Given the description of an element on the screen output the (x, y) to click on. 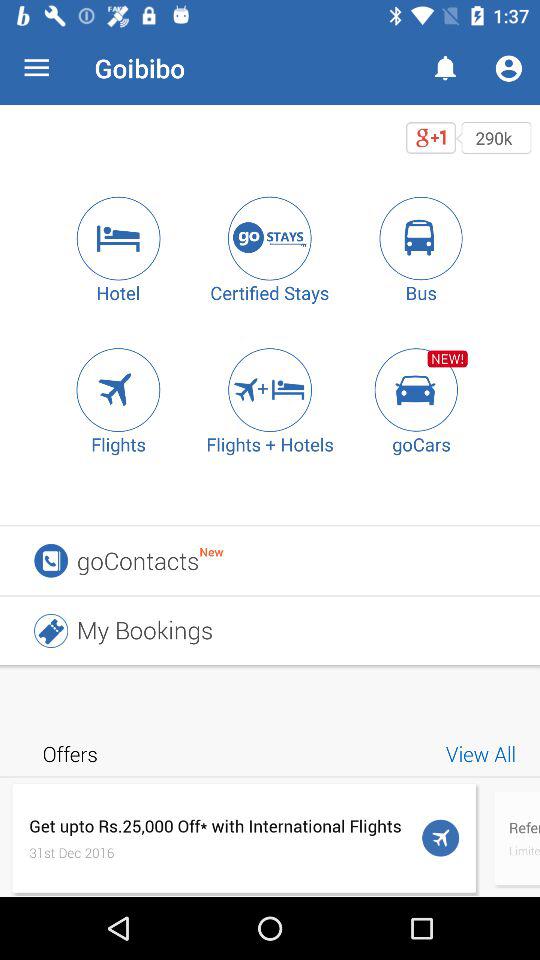
instead of flights put one ways or round trips (118, 390)
